Given the description of an element on the screen output the (x, y) to click on. 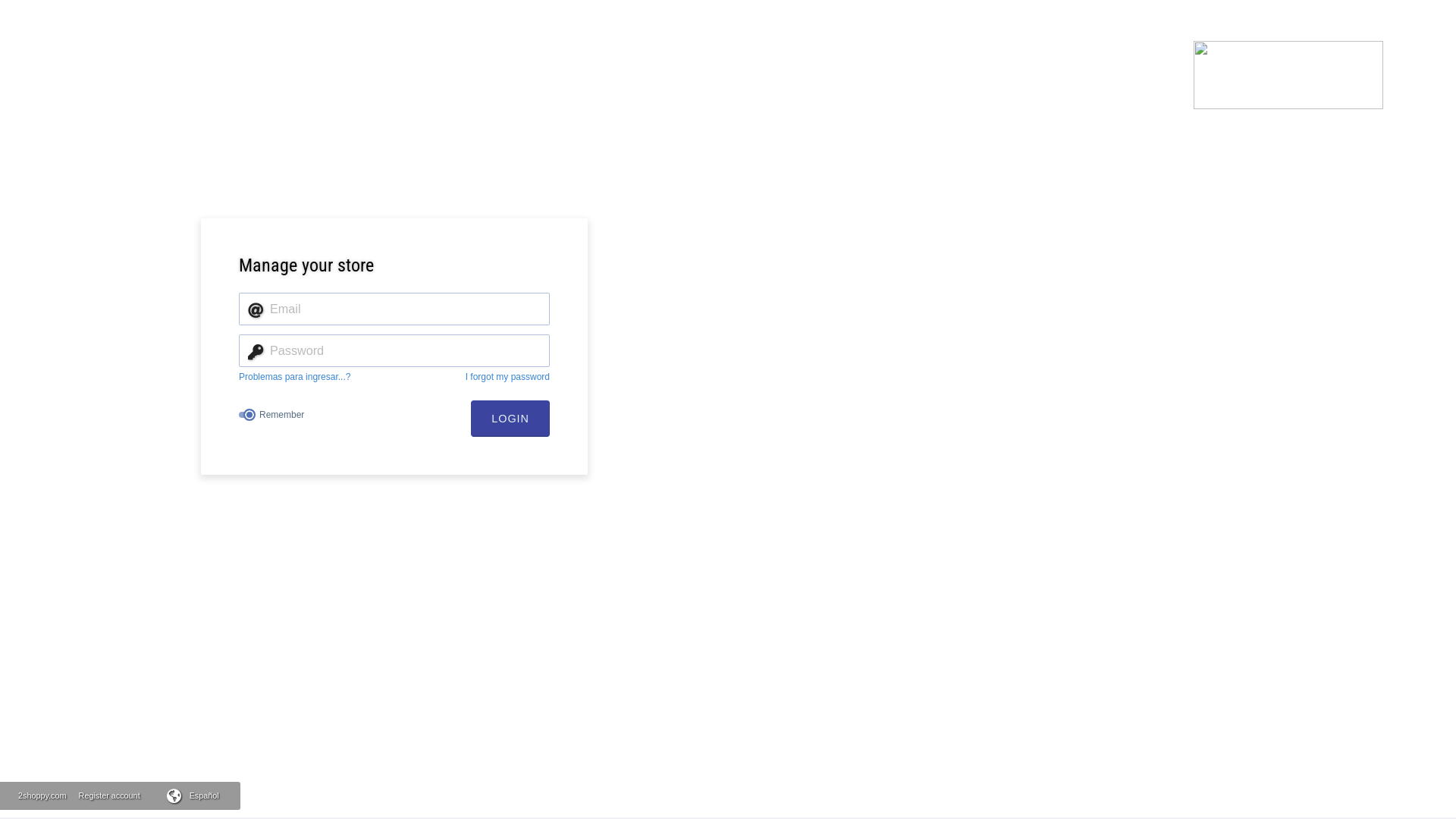
Problemas para ingresar...? Element type: text (294, 376)
2shoppy.com Element type: text (41, 795)
Register account Element type: text (109, 795)
